Given the description of an element on the screen output the (x, y) to click on. 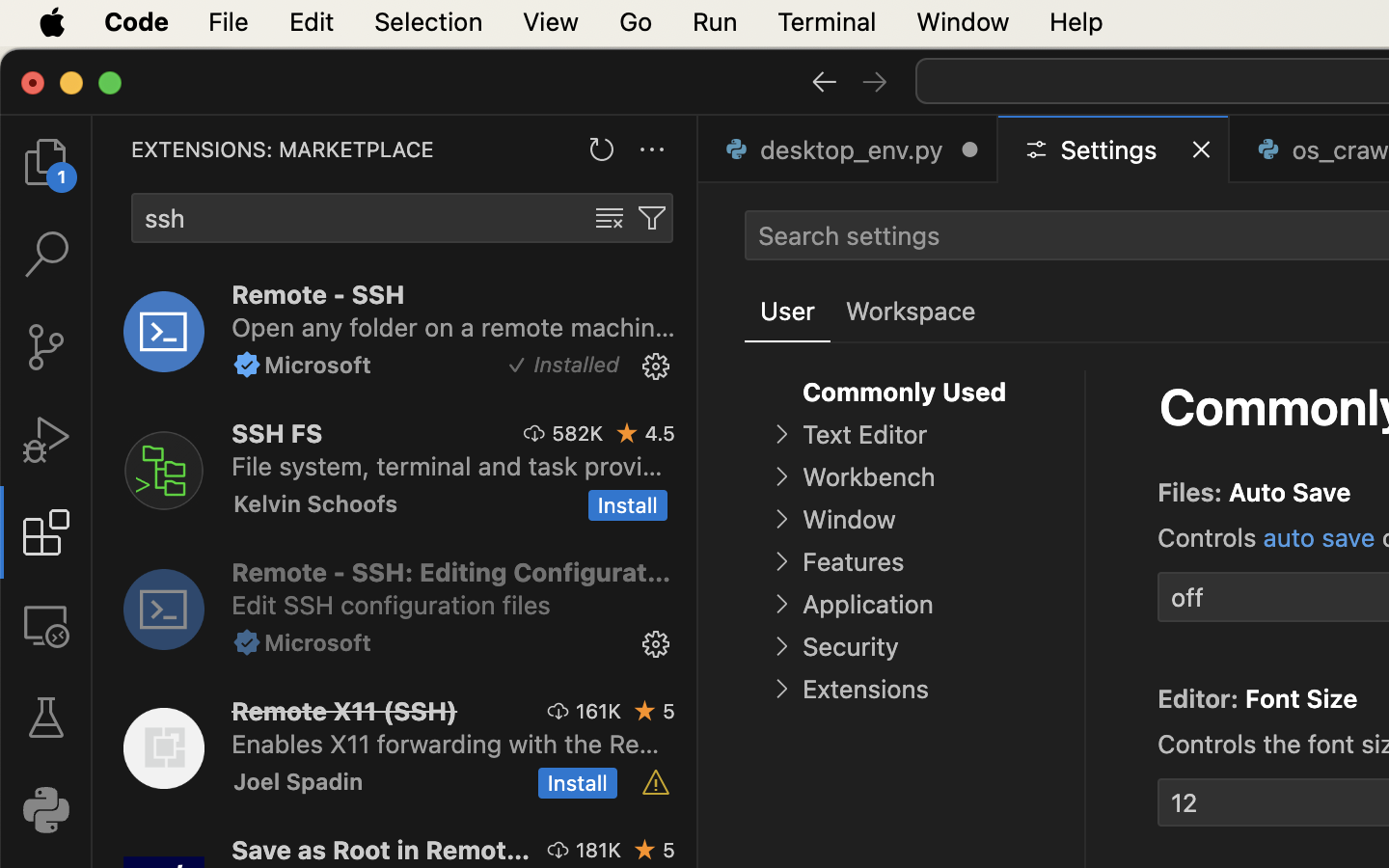
 Element type: AXButton (655, 366)
0  Element type: AXRadioButton (46, 346)
Microsoft Element type: AXStaticText (318, 364)
 Element type: AXGroup (46, 624)
 Element type: AXStaticText (246, 364)
